Given the description of an element on the screen output the (x, y) to click on. 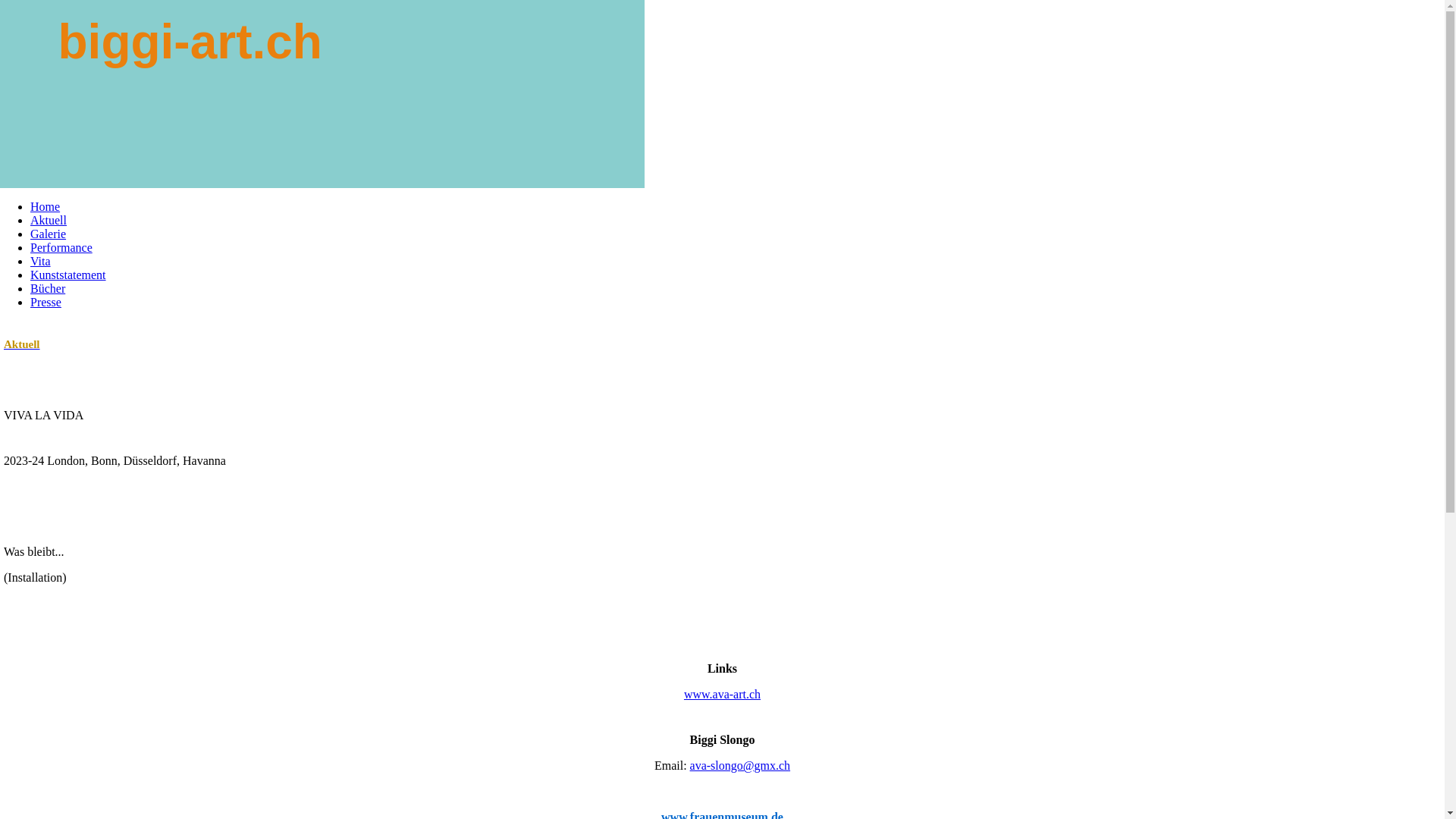
Performance Element type: text (61, 247)
Aktuell Element type: text (21, 343)
Home Element type: text (44, 206)
Galerie Element type: text (47, 233)
www.ava-art.ch Element type: text (722, 693)
ava-slongo@gmx.ch Element type: text (740, 765)
Presse Element type: text (45, 301)
Vita Element type: text (40, 260)
Aktuell Element type: text (48, 219)
Kunststatement Element type: text (68, 274)
